Given the description of an element on the screen output the (x, y) to click on. 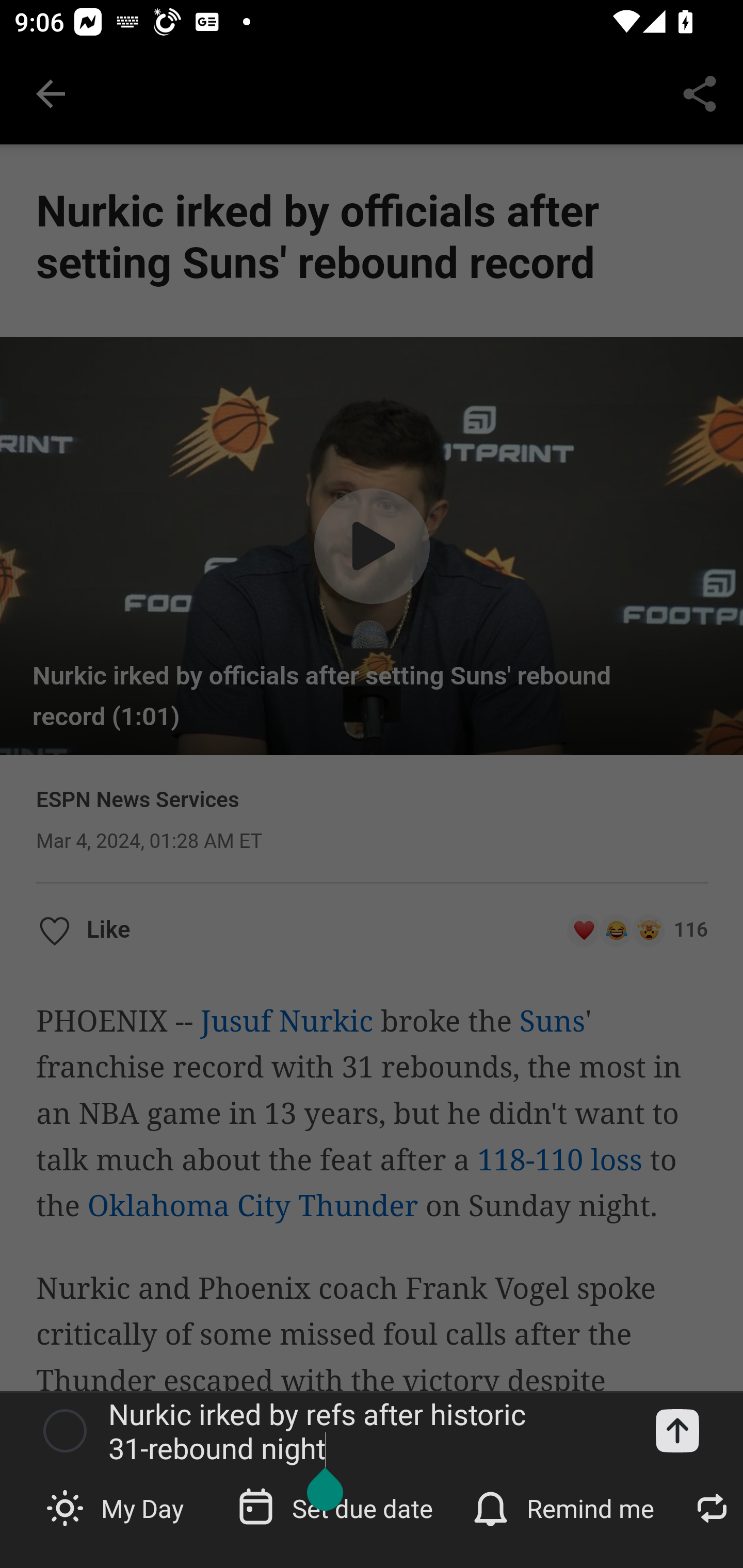
Add a task (676, 1430)
My Day (116, 1507)
Set due date (337, 1507)
Remind me (565, 1507)
